Given the description of an element on the screen output the (x, y) to click on. 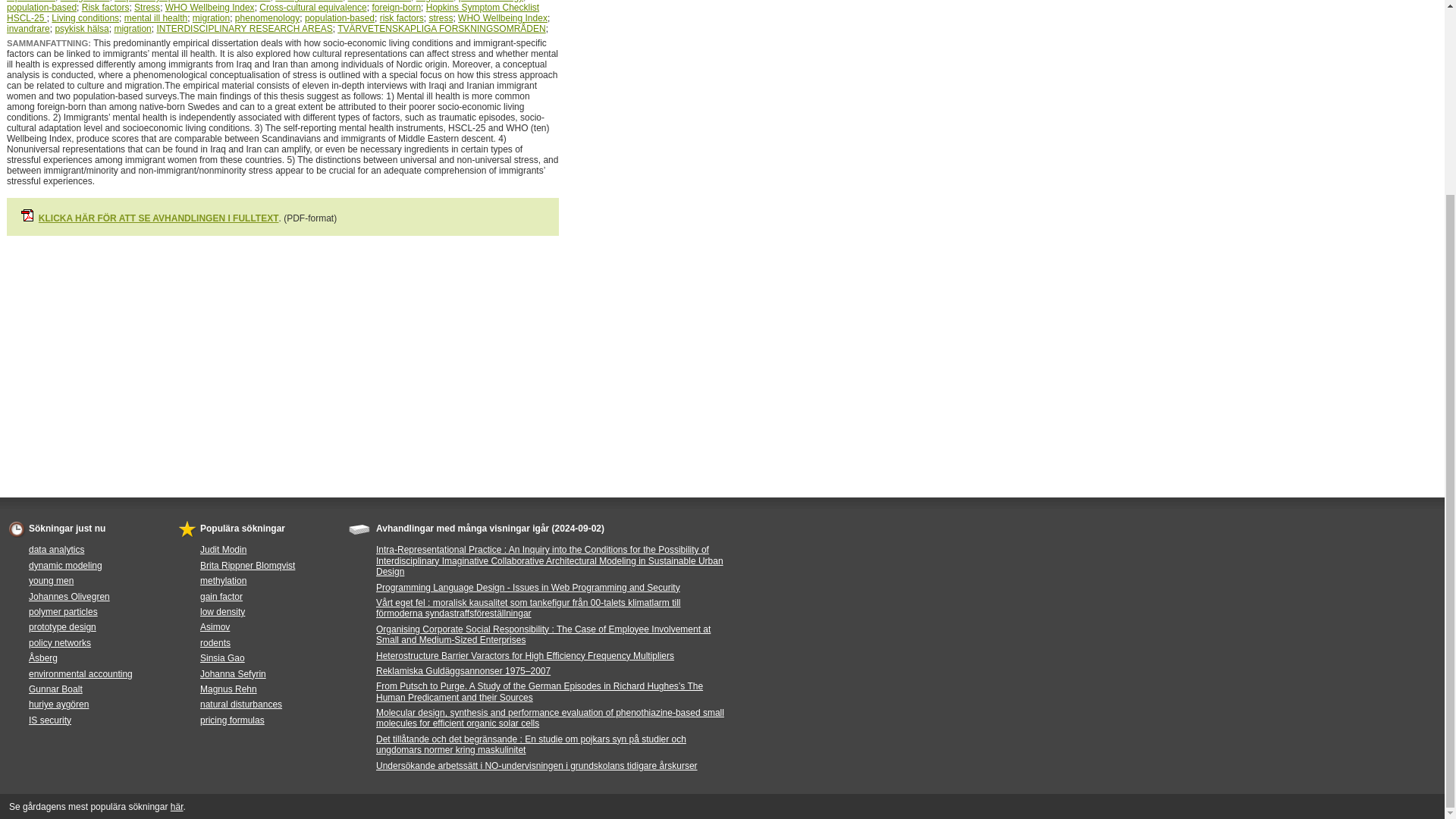
population-based (42, 7)
Hopkins Symptom Checklist HSCL-25 (192, 1)
Living conditions (308, 1)
mental ill health (155, 18)
foreign-born (85, 1)
mental ill health (378, 1)
phenomenology (490, 1)
migration (211, 18)
Risk factors (105, 7)
Advertisement (283, 349)
